Given the description of an element on the screen output the (x, y) to click on. 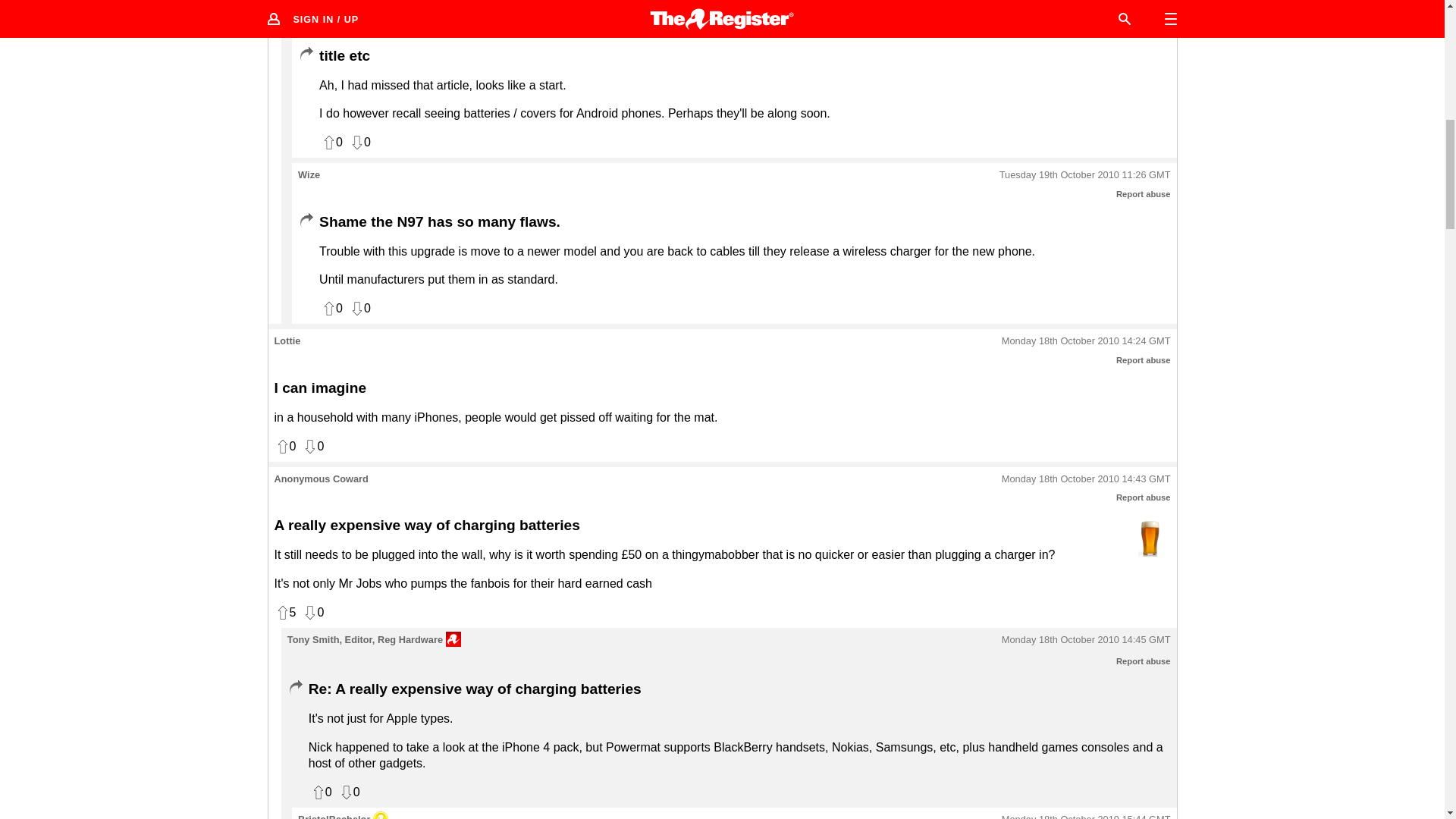
Report abuse (1143, 359)
Report abuse (1143, 27)
Permalink to this post (1085, 9)
Report abuse (1143, 660)
Report abuse (1143, 194)
Report abuse (1143, 497)
